Given the description of an element on the screen output the (x, y) to click on. 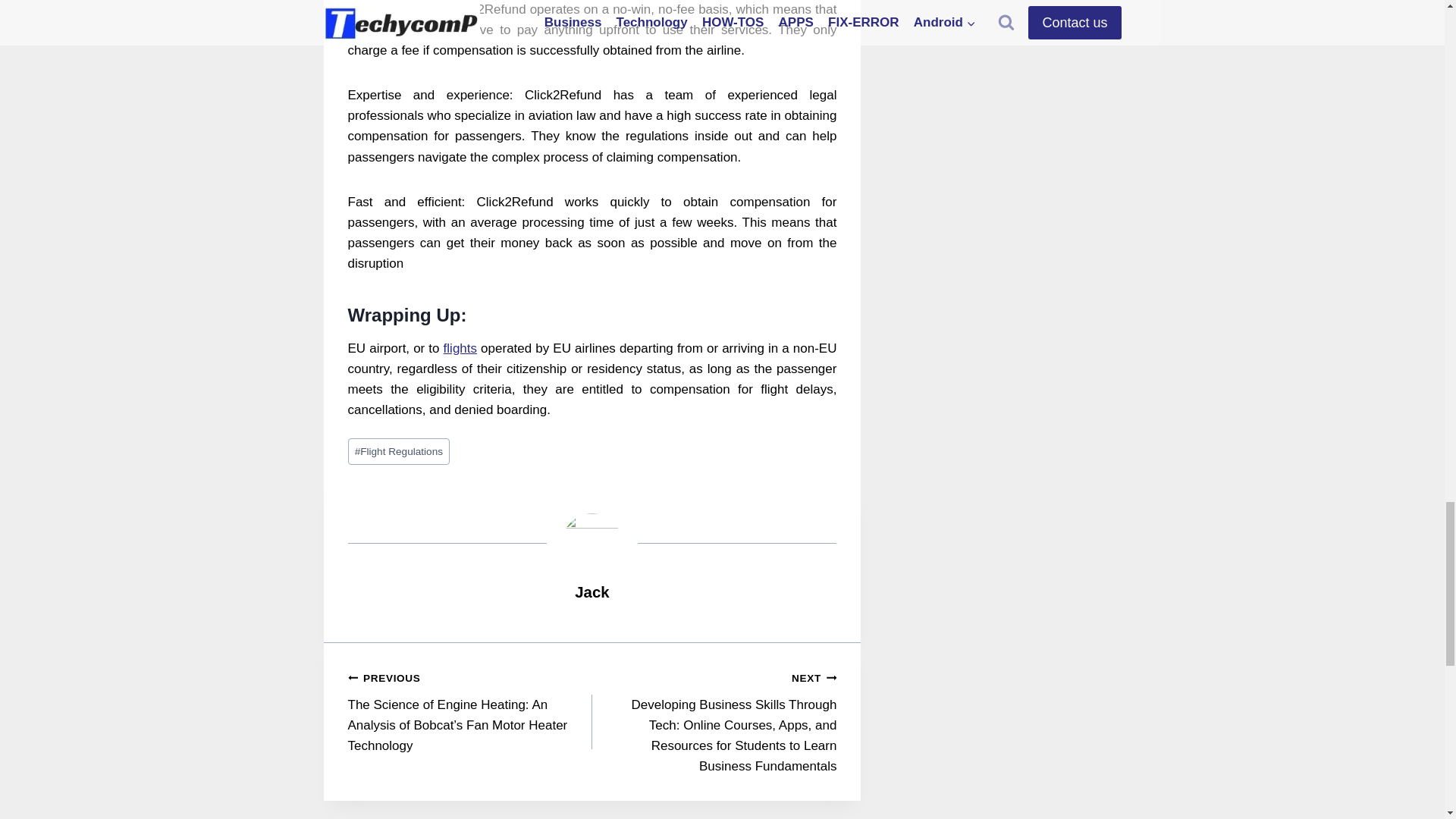
flights (460, 348)
Jack (591, 591)
Flight Regulations (398, 451)
Posts by Jack (591, 591)
